Given the description of an element on the screen output the (x, y) to click on. 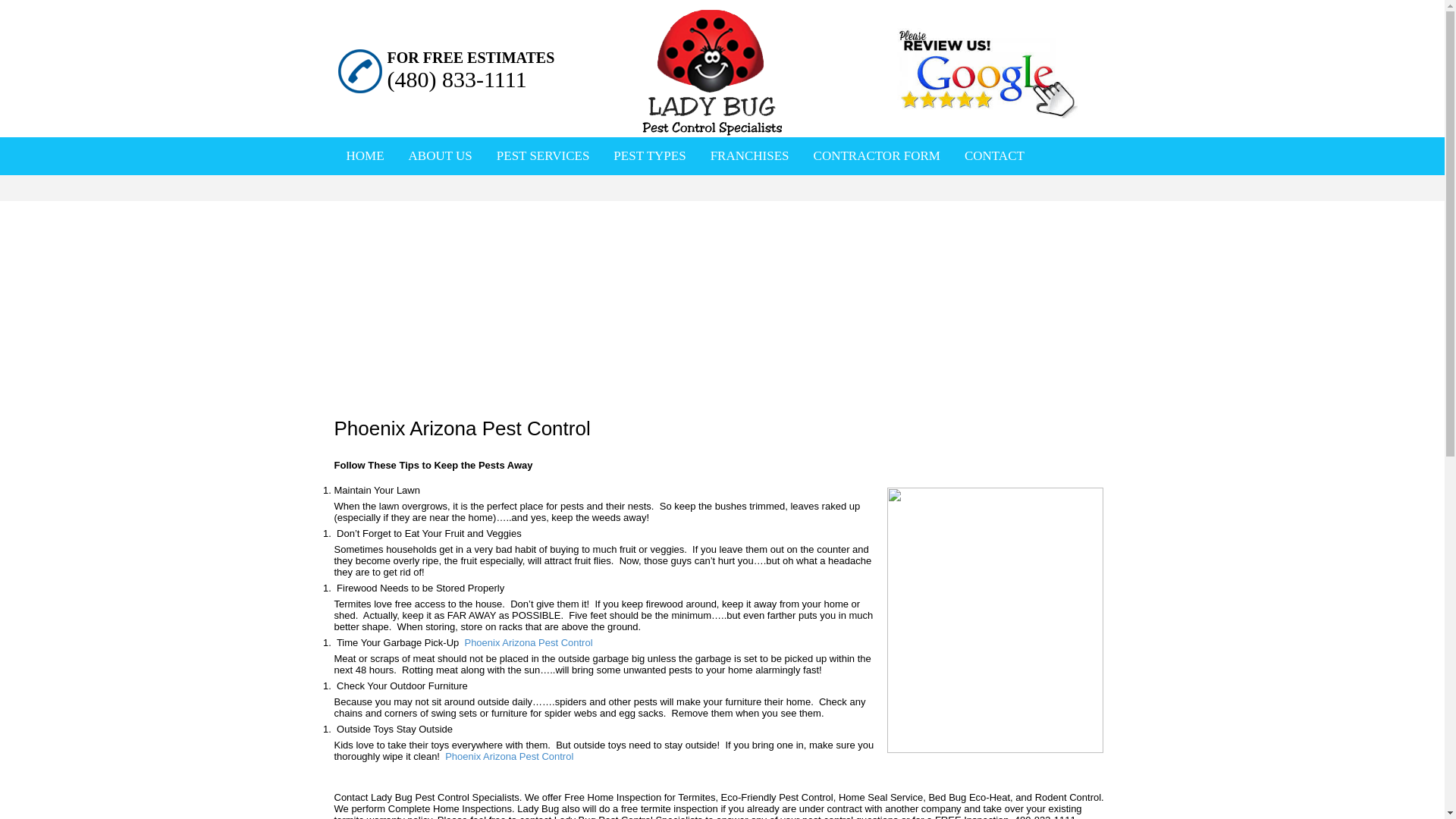
Phoenix Arizona Pest Control (509, 756)
CONTACT (994, 155)
ARTICLES (375, 194)
ABOUT US (440, 155)
PEST TYPES (649, 155)
 Phoenix Arizona Pest Control (526, 642)
HOME (364, 155)
CONTRACTOR FORM (876, 155)
VIDEOS (454, 194)
FRANCHISES (749, 155)
